Given the description of an element on the screen output the (x, y) to click on. 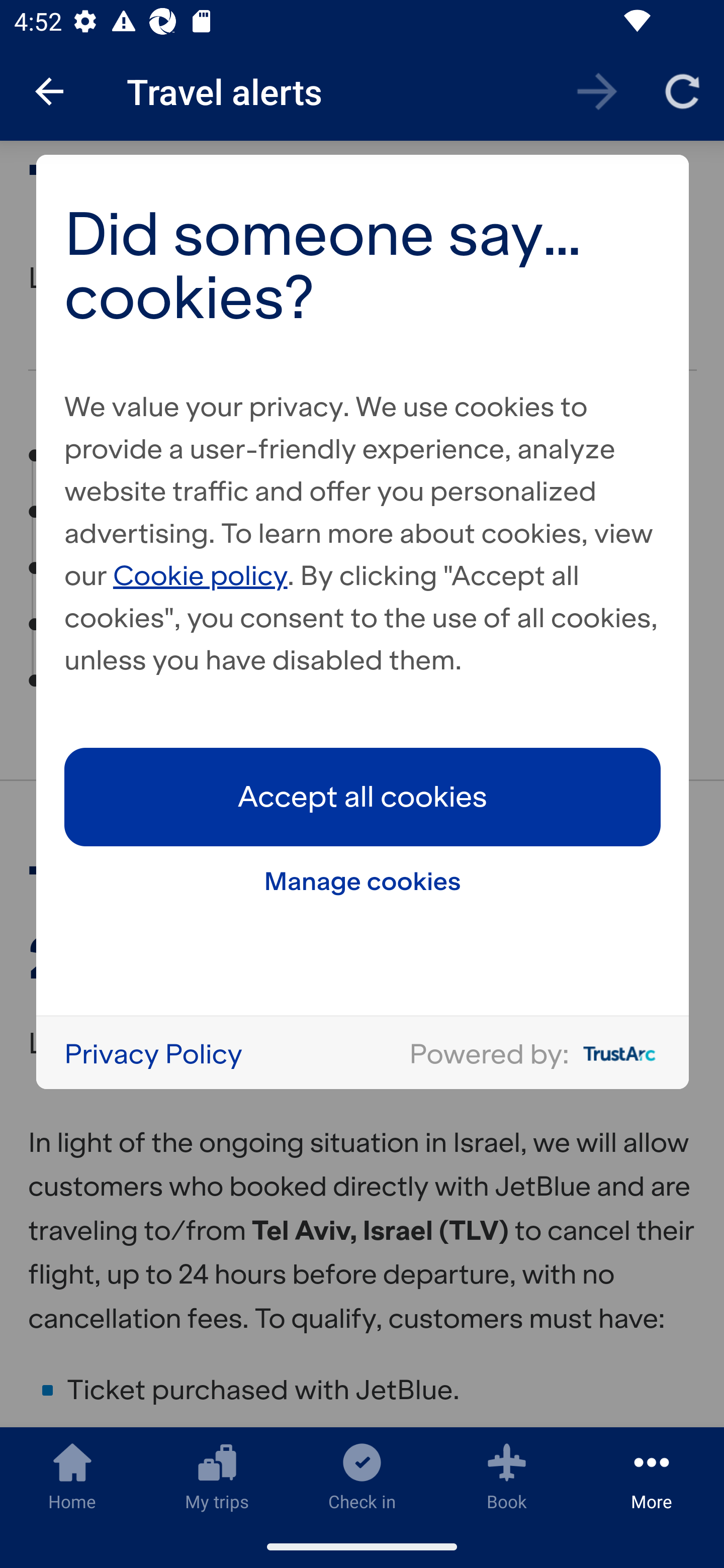
Navigate up (49, 91)
Forward (597, 90)
Reload (681, 90)
Tel Aviv, Israel Fee Waiver 2/1/24 - 4/30/24 (360, 455)
Construction At Reno/Tahoe, NV Airport (342, 568)
Cookie policy (200, 574)
Air Traffic Control Delays (237, 624)
Accept all cookies (362, 797)
Manage cookies (362, 880)
Privacy Policy (152, 1053)
Company logo for TrustArc (614, 1053)
Home (72, 1475)
My trips (216, 1475)
Check in (361, 1475)
Book (506, 1475)
